Given the description of an element on the screen output the (x, y) to click on. 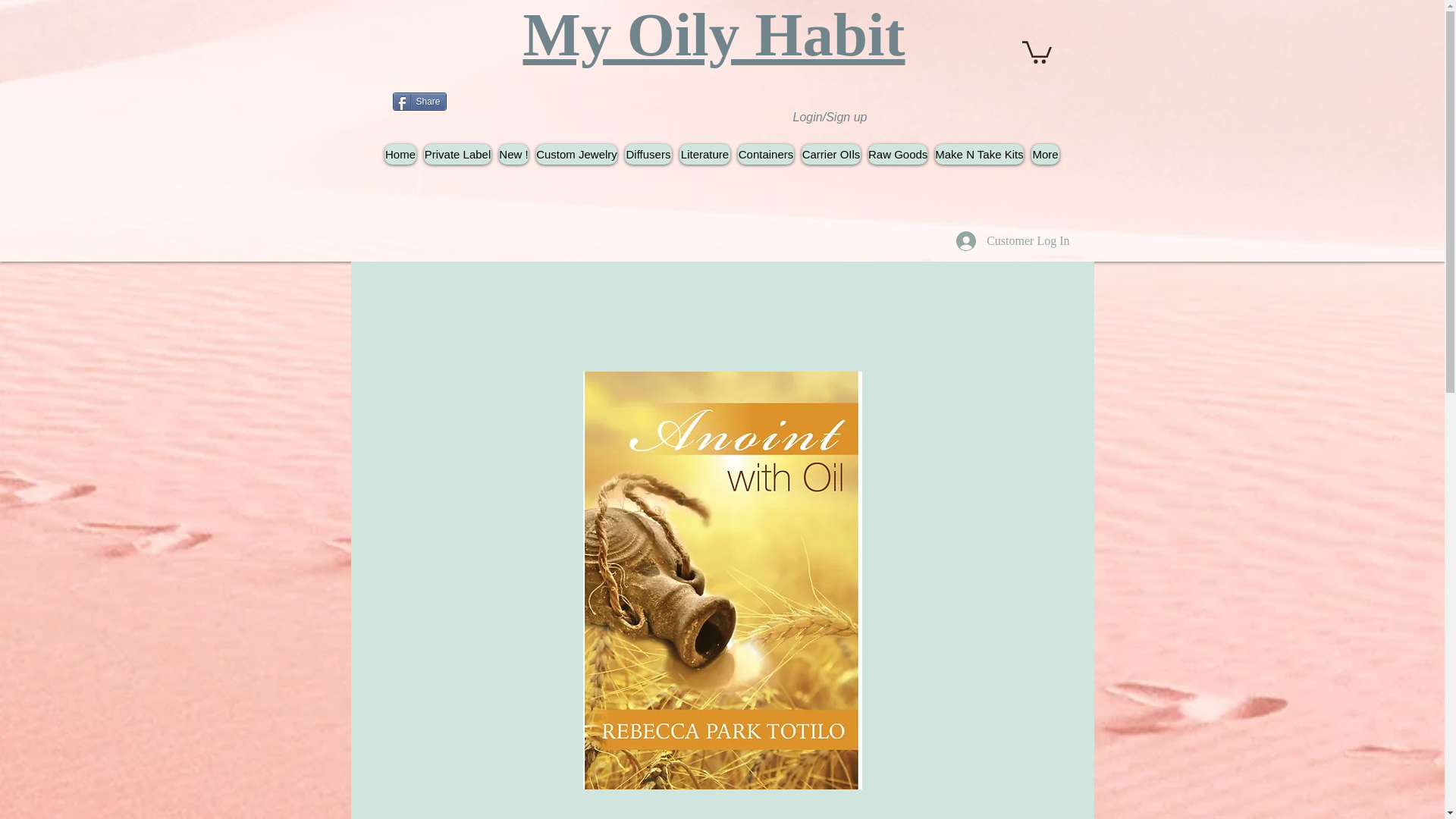
New ! (513, 154)
Private Label (457, 154)
My Oily Habit (713, 34)
Custom Jewelry (576, 154)
Home (400, 154)
Share (419, 101)
Share (419, 101)
Diffusers (647, 154)
